Given the description of an element on the screen output the (x, y) to click on. 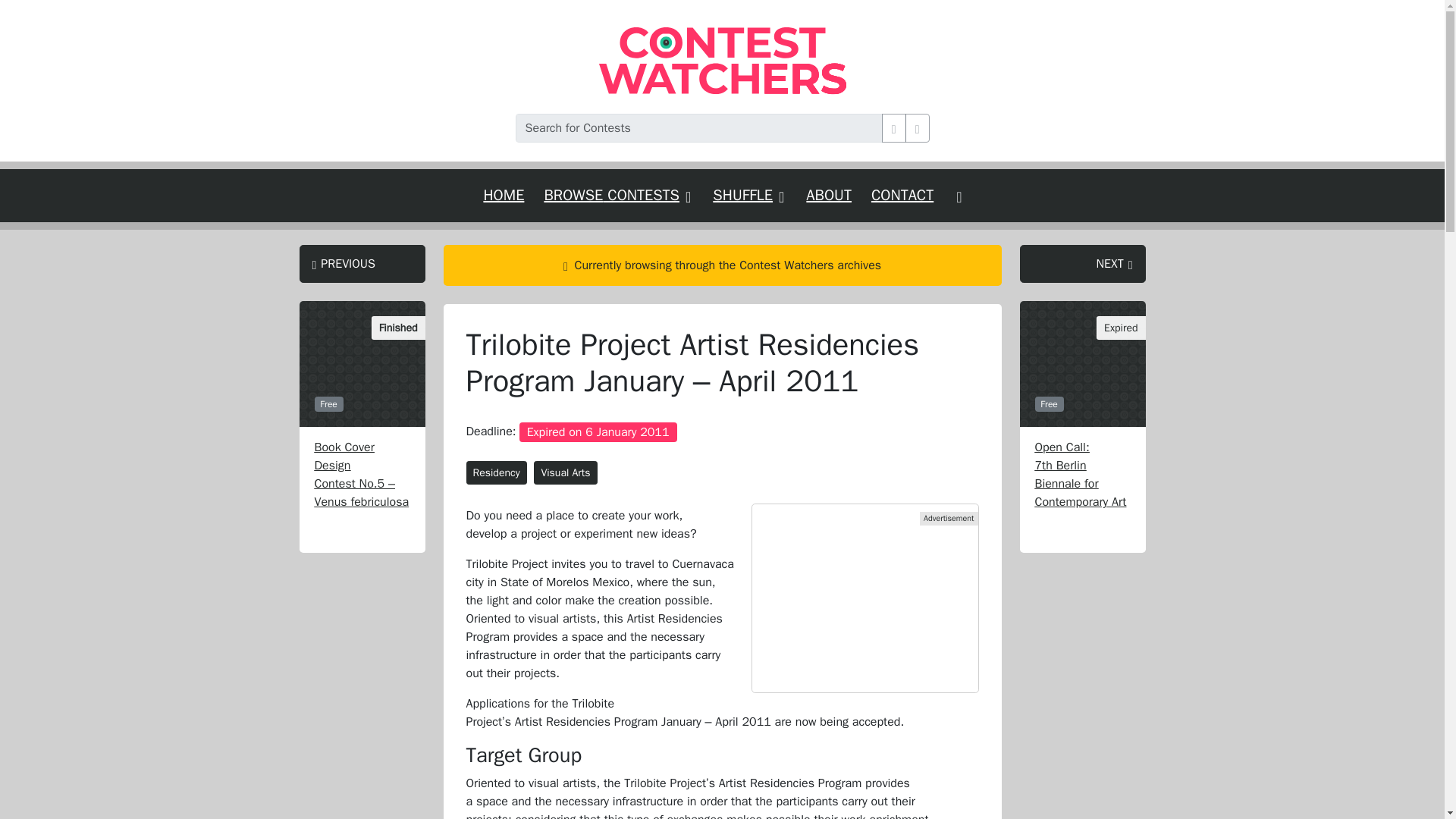
Toggle Browse Contests menu (617, 194)
SHUFFLE (748, 194)
Open the Contest Watchers front page (503, 194)
HOME (503, 194)
See a random open contest (748, 194)
